Given the description of an element on the screen output the (x, y) to click on. 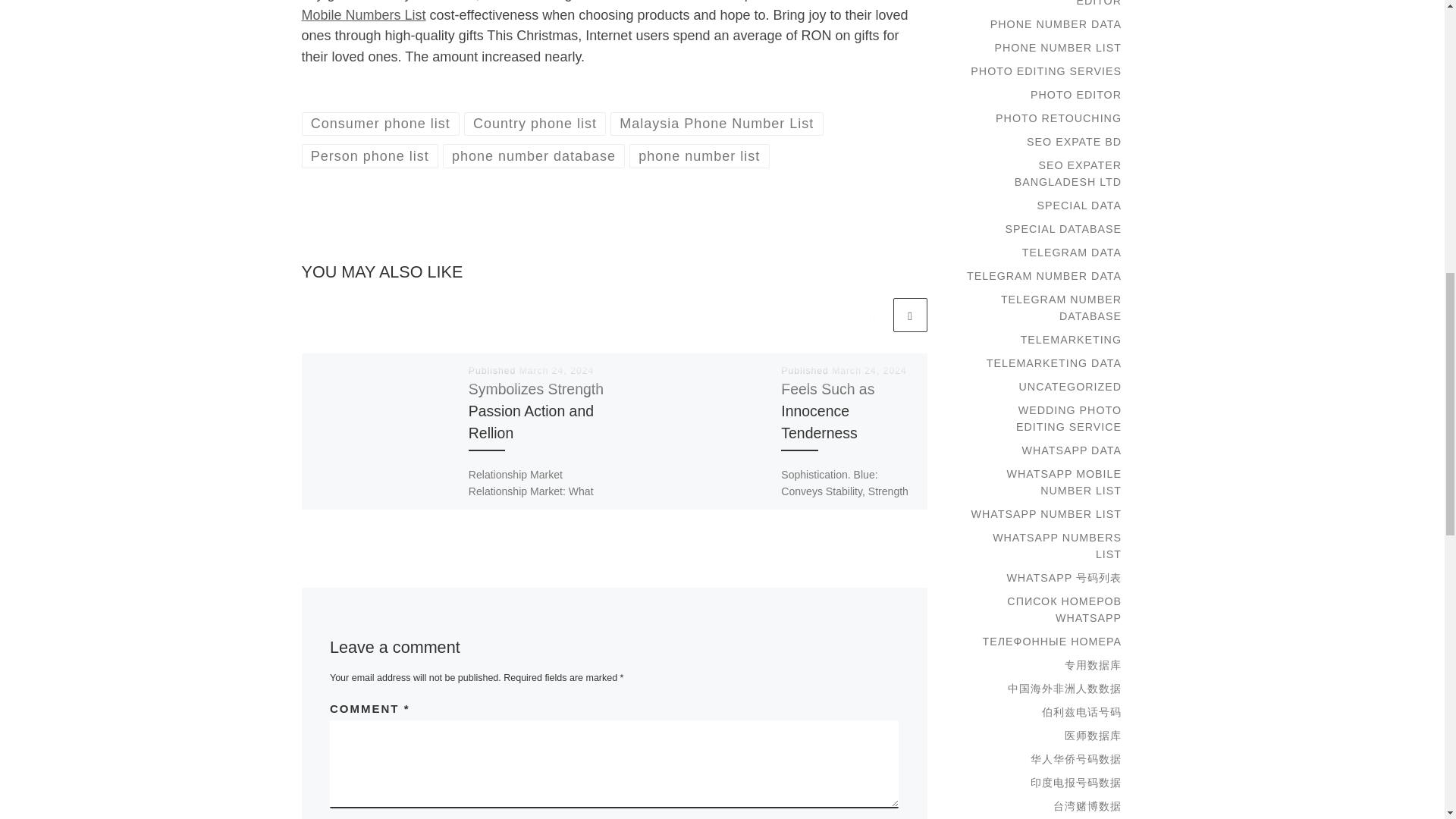
Next related articles (910, 315)
View all posts in Consumer phone list (380, 123)
March 24, 2024 (556, 370)
Consumer phone list (380, 123)
View all posts in phone number list (699, 155)
View all posts in Country phone list (535, 123)
Feels Such as Innocence Tenderness (827, 410)
Person phone list (370, 155)
phone number list (699, 155)
